Given the description of an element on the screen output the (x, y) to click on. 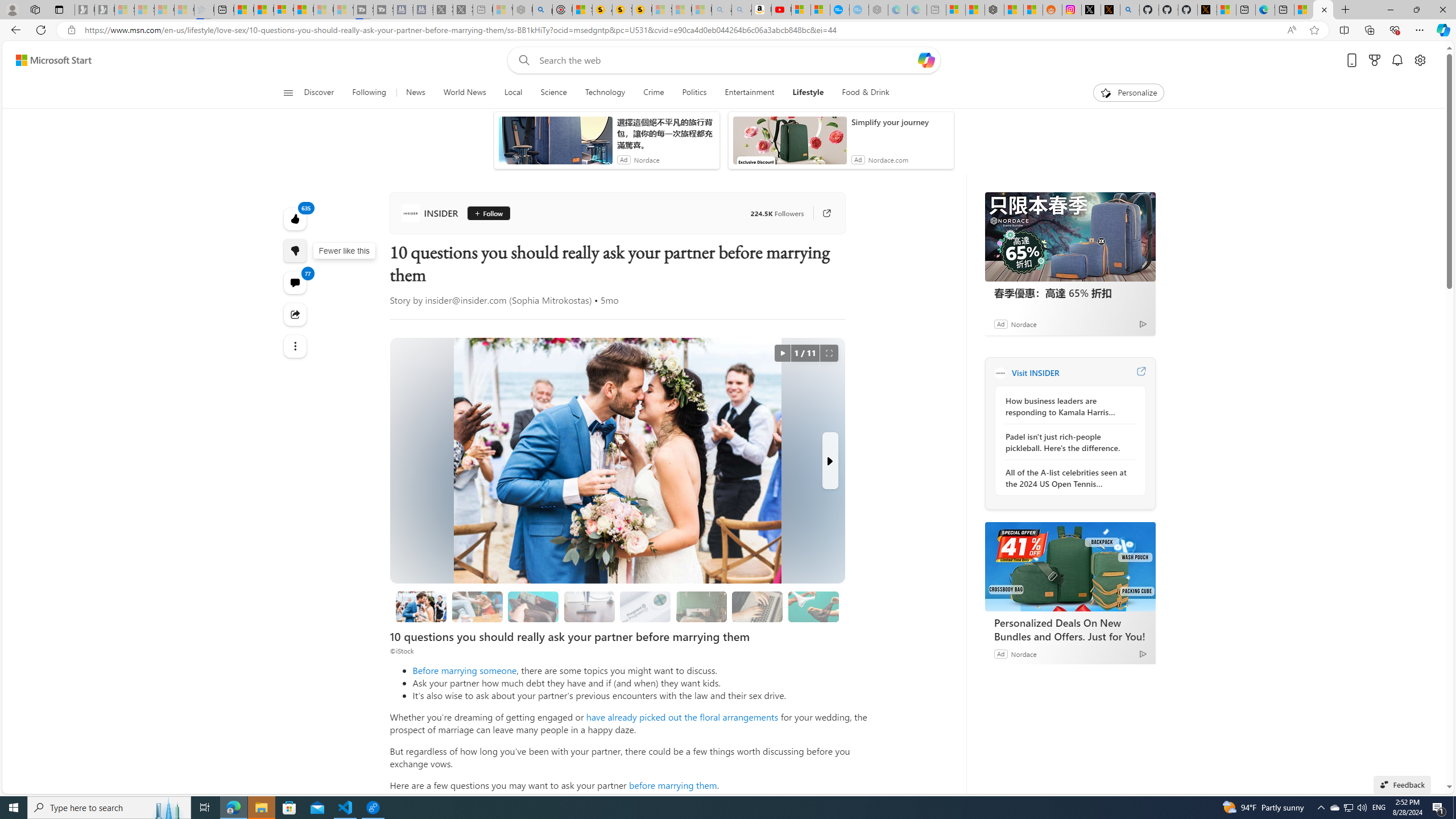
Politics (694, 92)
help.x.com | 524: A timeout occurred (1110, 9)
Add this page to favorites (Ctrl+D) (1314, 29)
Day 1: Arriving in Yemen (surreal to be here) - YouTube (781, 9)
How important is sex to you? (813, 606)
Log in to X / X (1090, 9)
New tab (1283, 9)
Settings and more (Alt+F) (1419, 29)
Nordace (1023, 653)
